Given the description of an element on the screen output the (x, y) to click on. 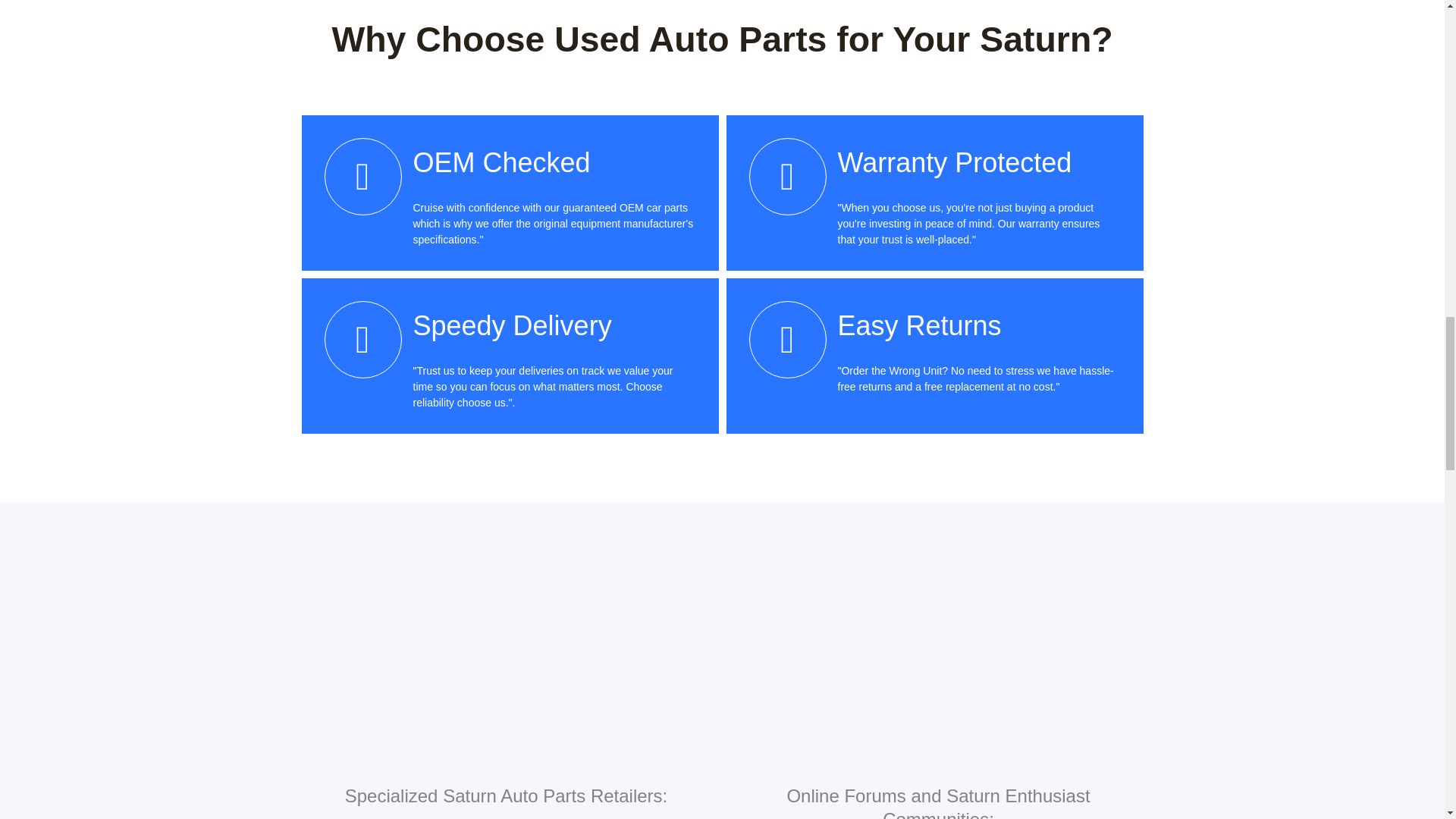
Warranty Protected (954, 162)
Speedy Delivery (511, 325)
OEM Checked (500, 162)
Easy Returns (919, 325)
